Given the description of an element on the screen output the (x, y) to click on. 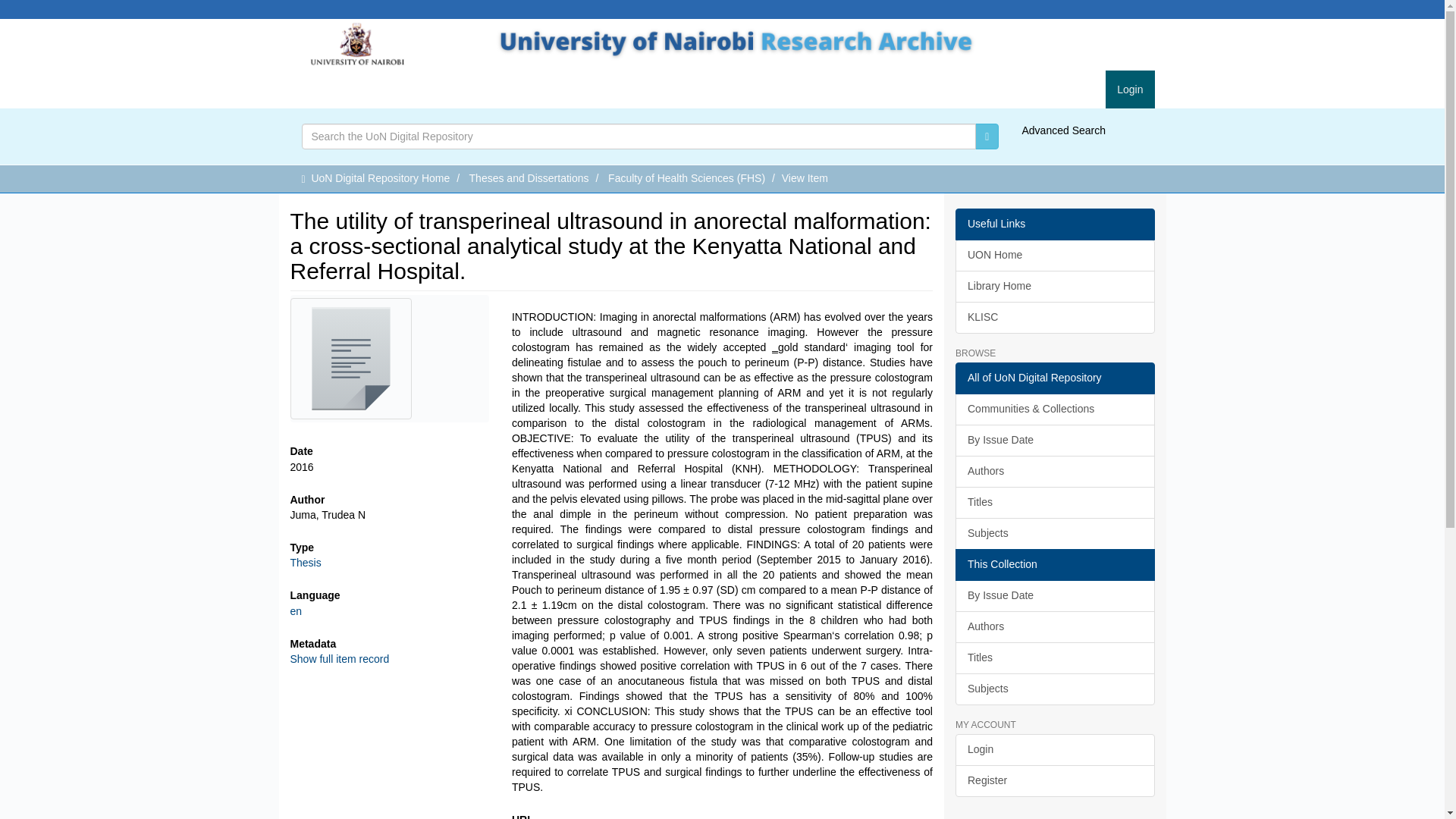
KLISC (1054, 317)
Thesis (304, 562)
By Issue Date (1054, 440)
Titles (1054, 502)
Login (1129, 89)
UON Home (1054, 255)
By Issue Date (1054, 595)
This Collection (1054, 564)
Library Home (1054, 286)
Go (986, 136)
UoN Digital Repository Home (380, 177)
Show full item record (338, 658)
Useful Links (1054, 224)
Theses and Dissertations (528, 177)
All of UoN Digital Repository (1054, 377)
